Given the description of an element on the screen output the (x, y) to click on. 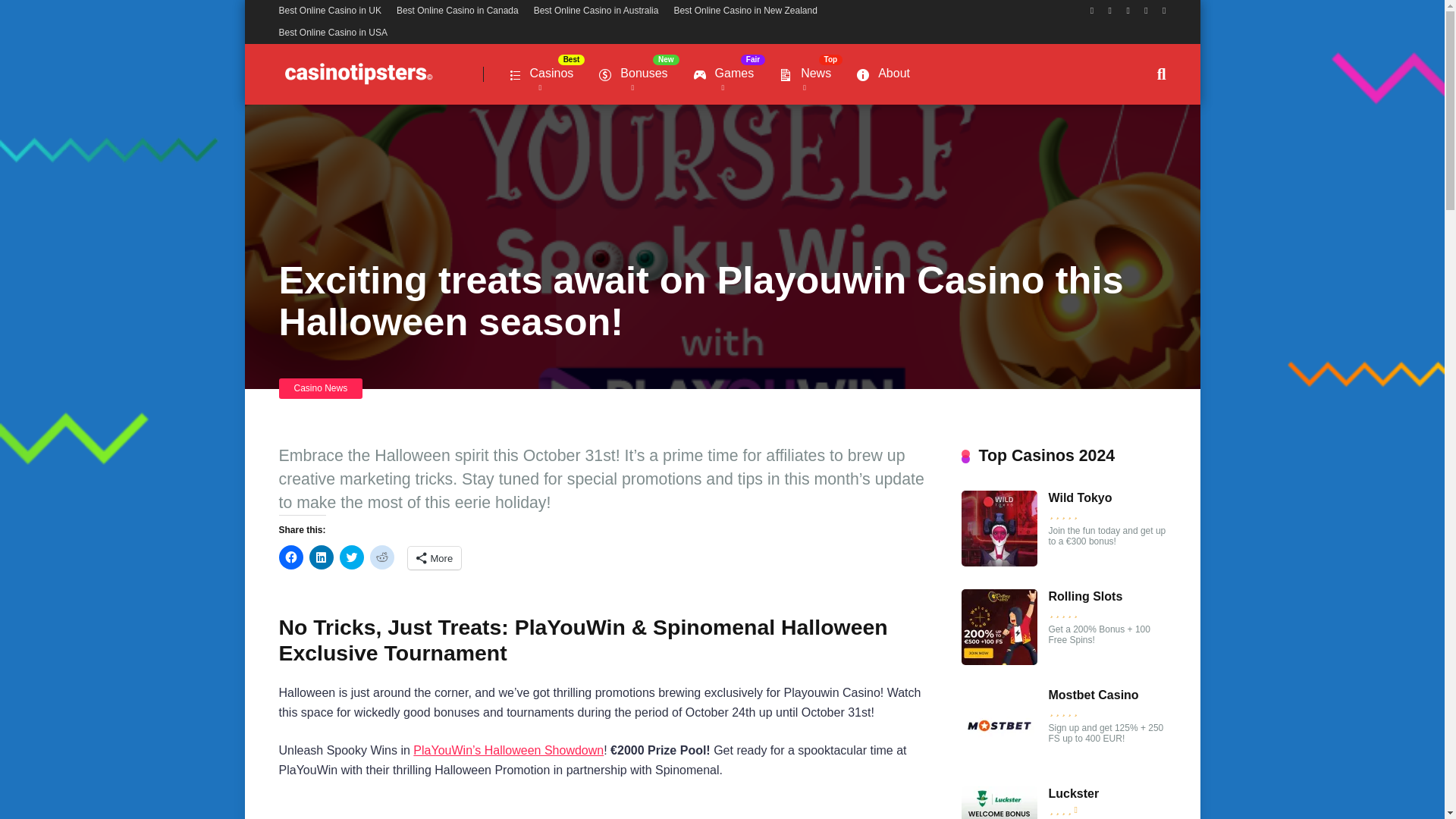
Best Online Casino in UK (330, 9)
Best Online Casino in Australia (596, 9)
Best Online Casino in Canada (457, 9)
Best Online Casino in New Zealand (744, 9)
News (804, 75)
Bonuses (632, 75)
Click to share on Twitter (351, 557)
Click to share on Facebook (290, 557)
Casino Tipsters (358, 68)
About (882, 75)
